Given the description of an element on the screen output the (x, y) to click on. 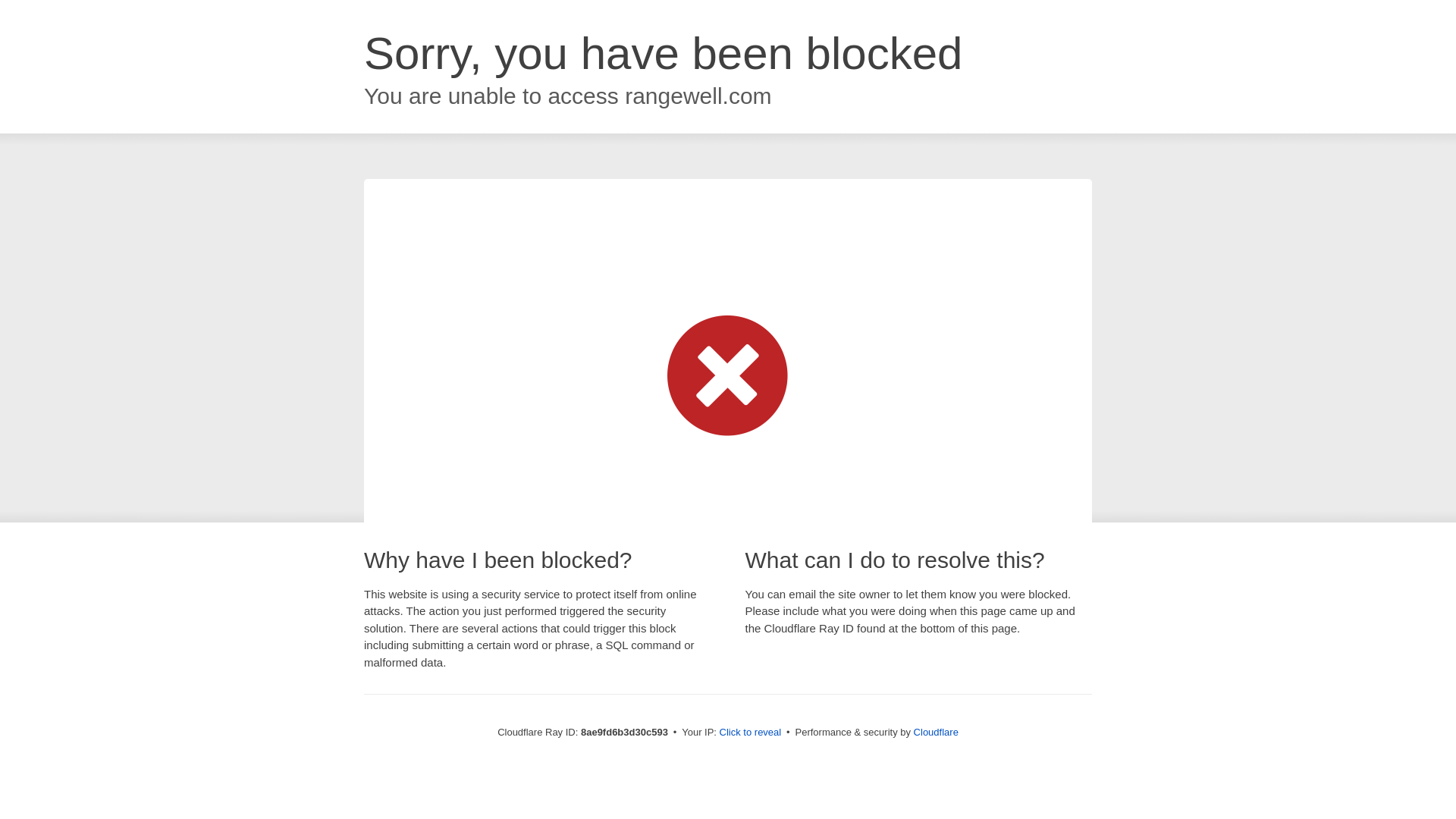
Cloudflare (936, 731)
Click to reveal (750, 732)
